Given the description of an element on the screen output the (x, y) to click on. 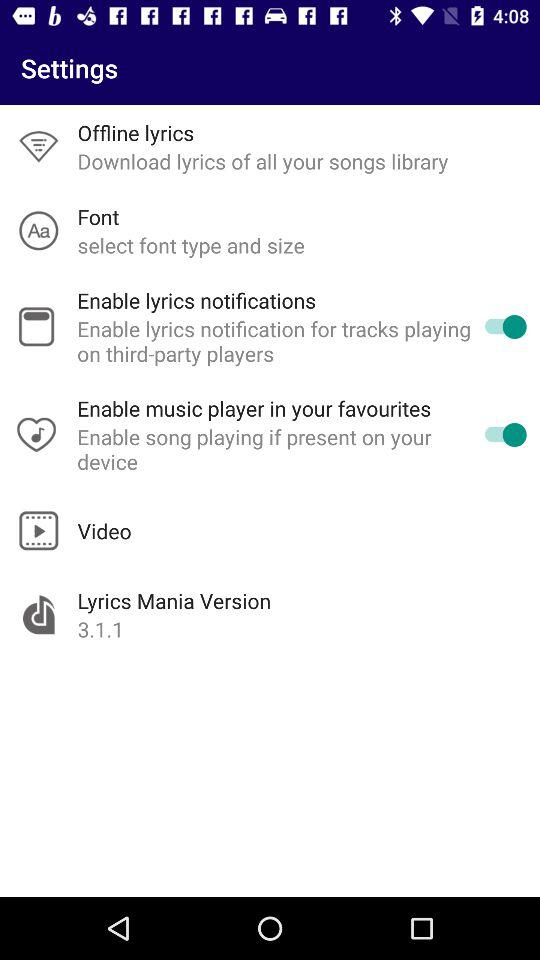
open icon above the enable lyrics notifications app (190, 244)
